Given the description of an element on the screen output the (x, y) to click on. 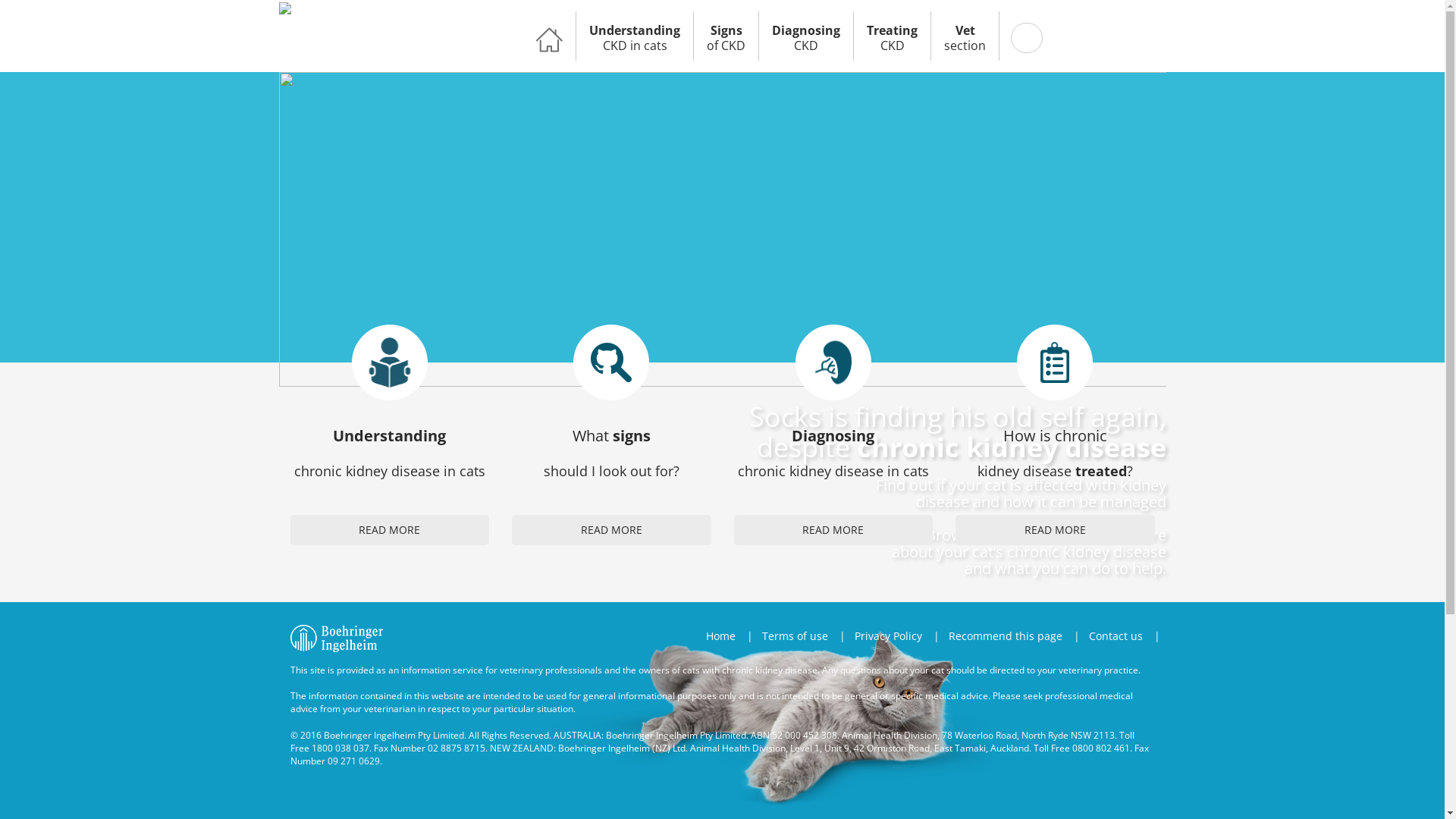
Treating
CKD Element type: text (891, 35)
Signs
of CKD Element type: text (725, 35)
Terms of use Element type: text (794, 635)
Home Element type: text (725, 635)
Understanding
CKD in cats Element type: text (634, 35)
Privacy Policy Element type: text (888, 635)
What signs
should I look out for?
READ MORE Element type: text (611, 434)
Diagnosing
chronic kidney disease in cats
READ MORE Element type: text (832, 434)
Understanding
chronic kidney disease in cats
READ MORE Element type: text (390, 434)
Diagnosing
CKD Element type: text (806, 35)
Contact us Element type: text (1114, 635)
How is chronic
kidney disease treated?
READ MORE Element type: text (1055, 434)
Vet
section Element type: text (964, 35)
Recommend this page Element type: text (1005, 635)
Search Element type: text (23, 9)
